Given the description of an element on the screen output the (x, y) to click on. 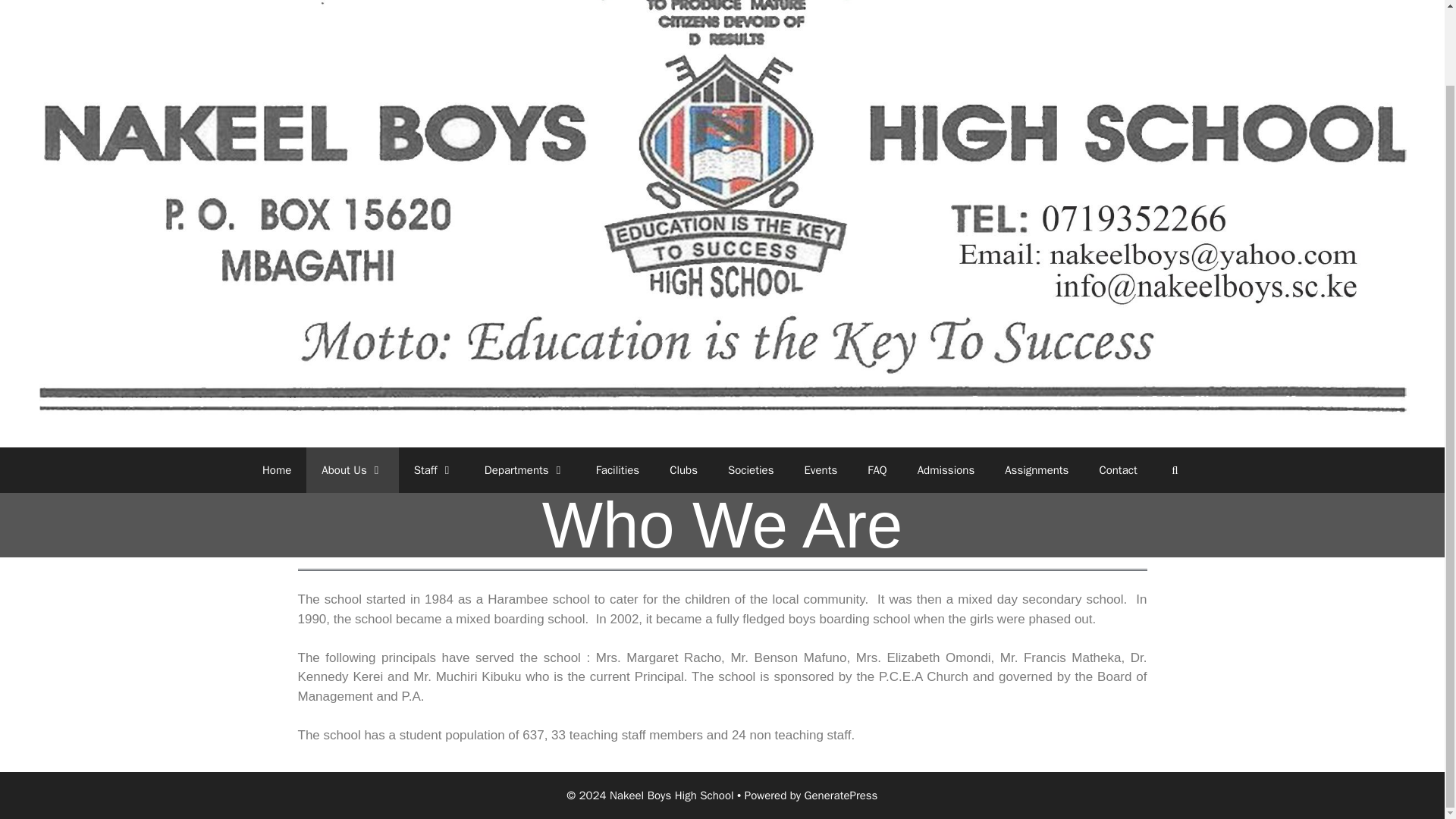
Search (1174, 470)
Admissions (946, 470)
FAQ (876, 470)
Events (820, 470)
Assignments (1036, 470)
Clubs (683, 470)
About Us (351, 470)
Facilities (617, 470)
Contact (1117, 470)
Home (276, 470)
